Given the description of an element on the screen output the (x, y) to click on. 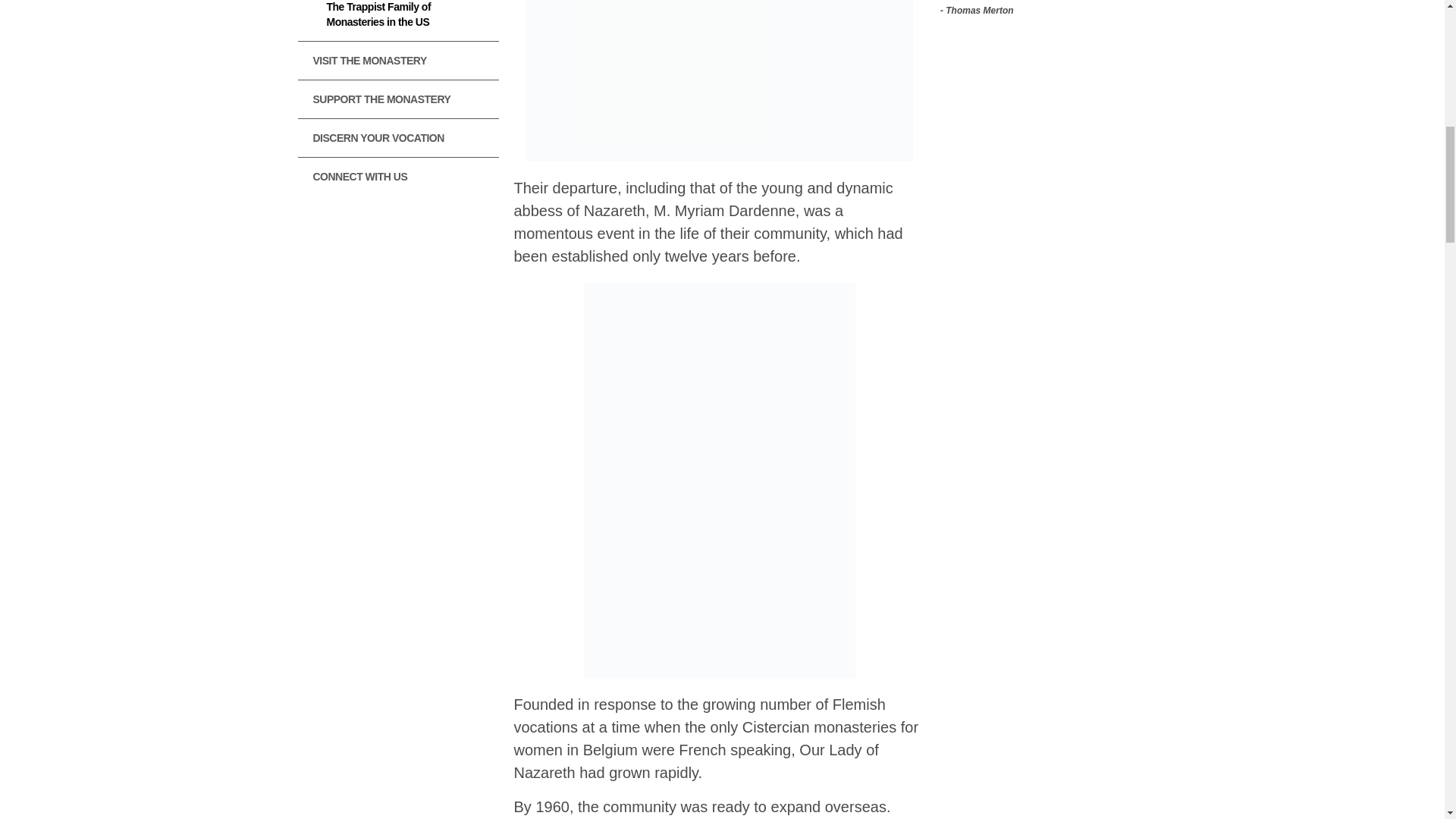
CONNECT WITH US (397, 176)
SUPPORT THE MONASTERY (397, 98)
DISCERN YOUR VOCATION (397, 137)
The Trappist Family of Monasteries in the US (397, 20)
VISIT THE MONASTERY (397, 60)
